Given the description of an element on the screen output the (x, y) to click on. 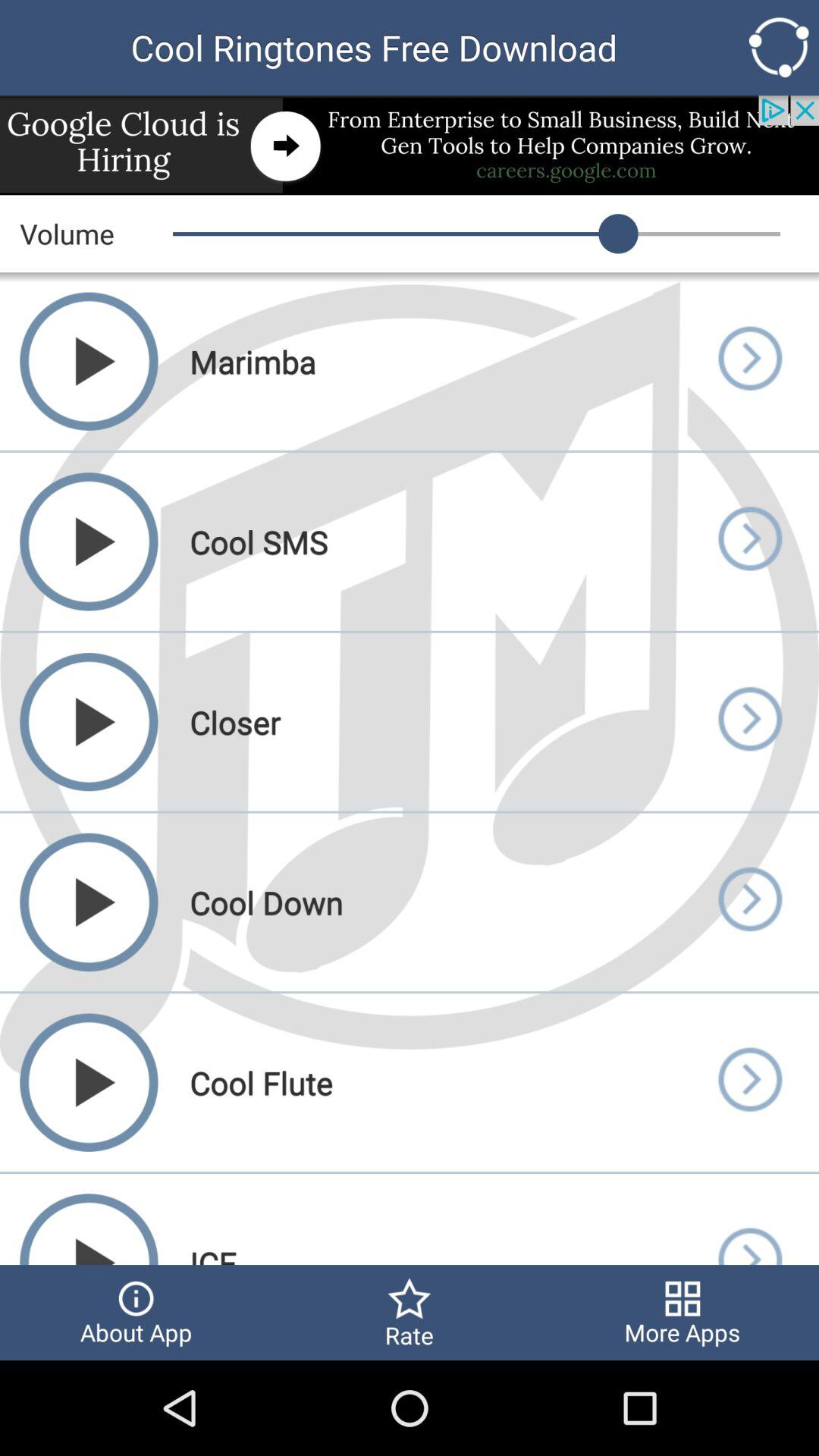
open button (749, 361)
